Given the description of an element on the screen output the (x, y) to click on. 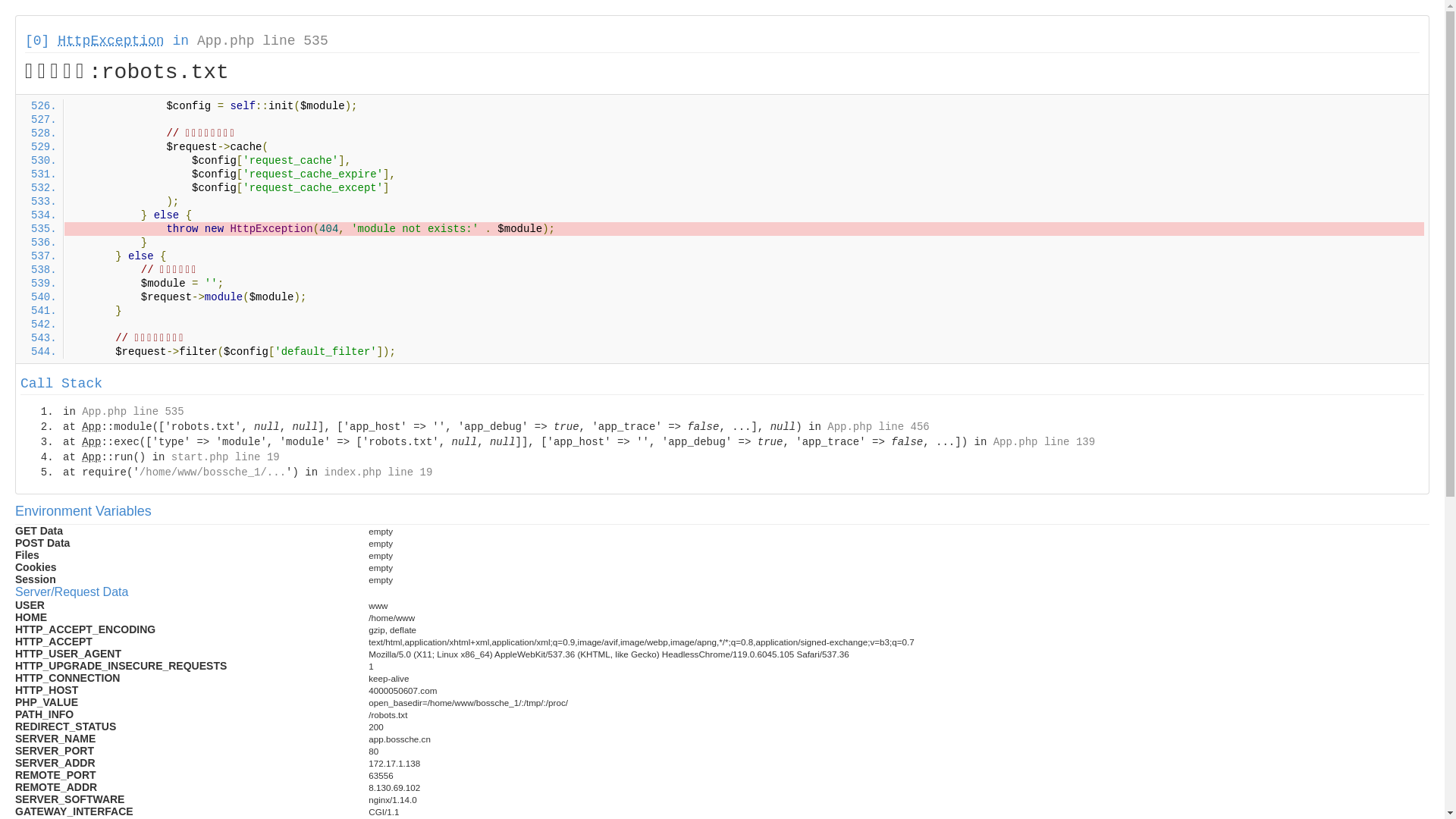
start.php line 19 Element type: text (225, 457)
App.php line 535 Element type: text (132, 411)
App.php line 139 Element type: text (1044, 442)
/home/www/bossche_1/... Element type: text (212, 472)
App.php line 535 Element type: text (262, 40)
index.php line 19 Element type: text (377, 472)
App.php line 456 Element type: text (877, 426)
